Given the description of an element on the screen output the (x, y) to click on. 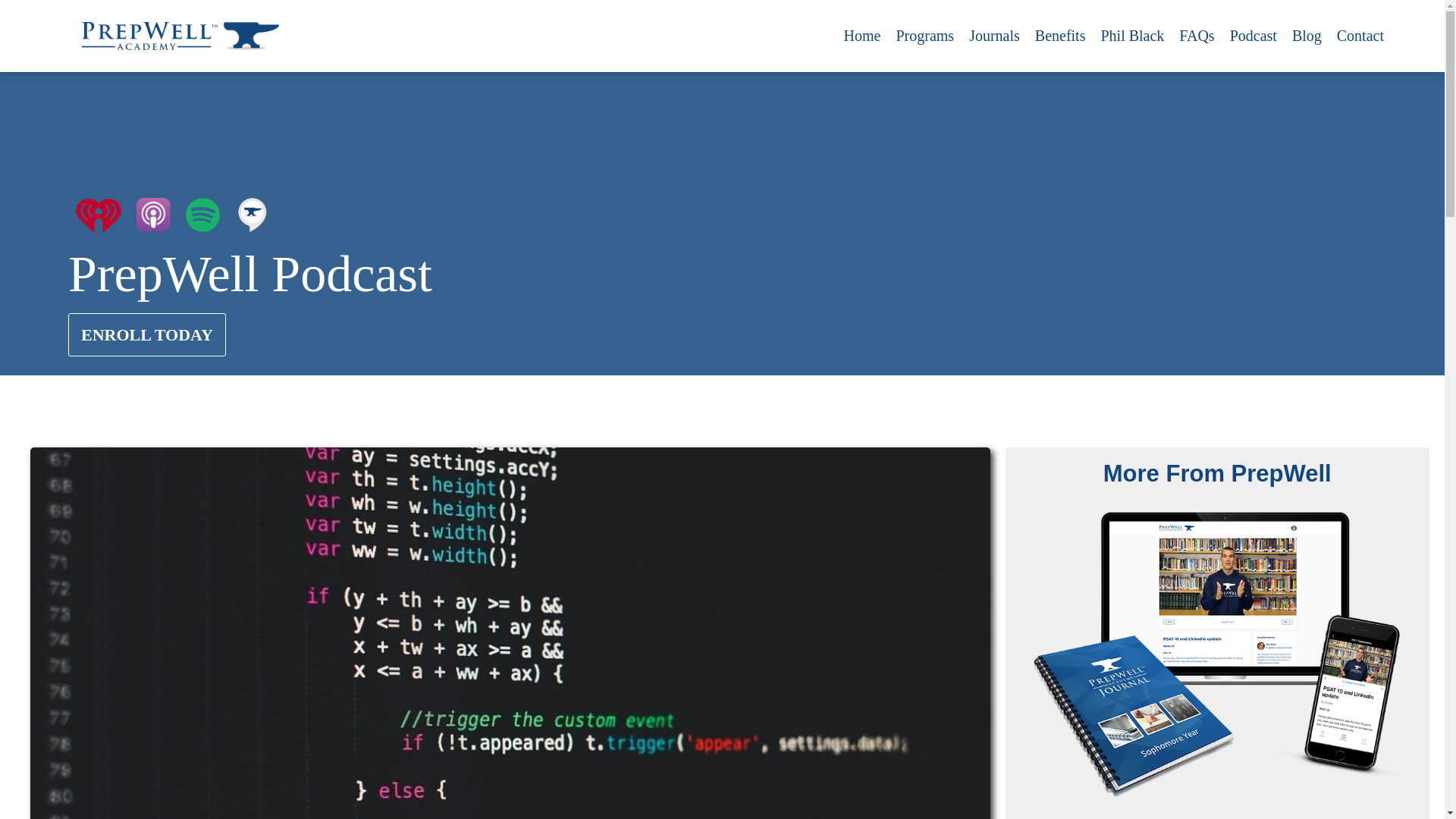
FAQs (1196, 35)
Programs (924, 35)
Blog (1306, 35)
ENROLL TODAY (146, 334)
Podcast (1253, 35)
Contact (1360, 35)
Home (861, 35)
Journals (993, 35)
Phil Black (1132, 35)
Benefits (1060, 35)
